Given the description of an element on the screen output the (x, y) to click on. 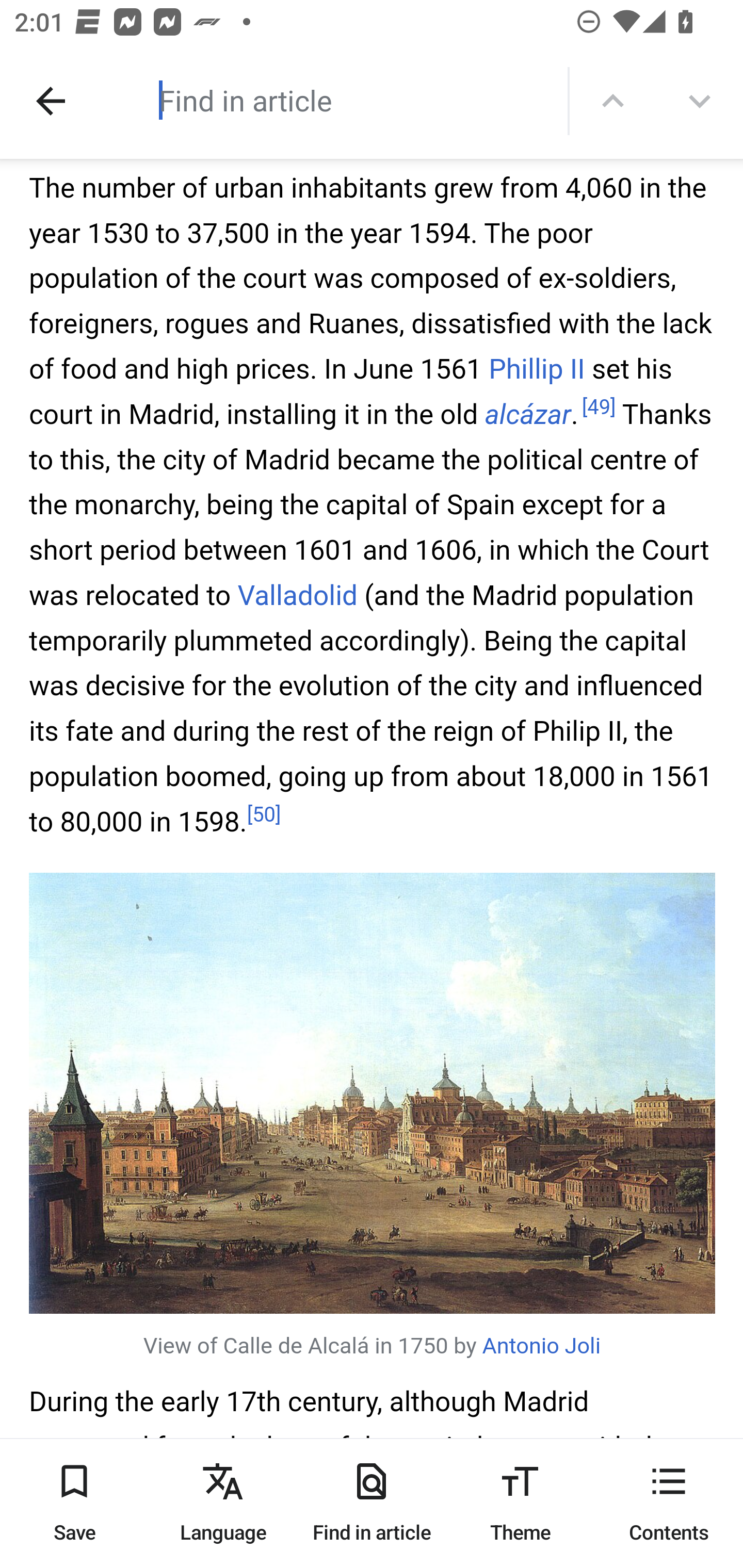
Done (50, 101)
Find previous (612, 101)
Find next (699, 101)
Find in article (334, 100)
Phillip II (536, 370)
[] [ 49 ] (599, 408)
alcázar (527, 415)
Valladolid (297, 595)
[] [ 50 ] (263, 816)
Antonio Joli (540, 1348)
Save (74, 1502)
Language (222, 1502)
Find in article (371, 1502)
Theme (519, 1502)
Contents (668, 1502)
